Given the description of an element on the screen output the (x, y) to click on. 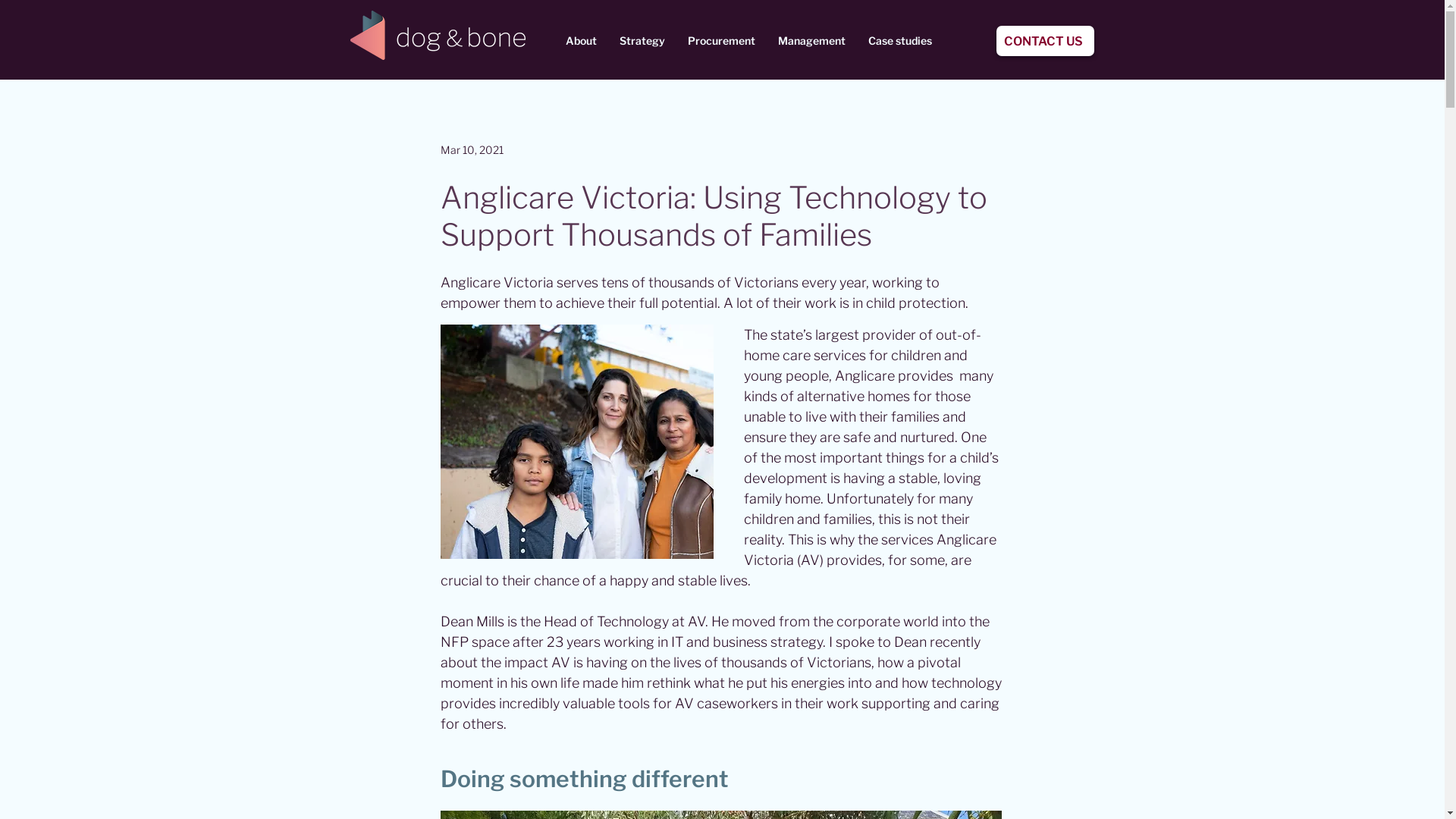
Management Element type: text (810, 40)
Strategy Element type: text (642, 40)
CONTACT US Element type: text (1045, 40)
Procurement Element type: text (721, 40)
Case studies Element type: text (899, 40)
